Given the description of an element on the screen output the (x, y) to click on. 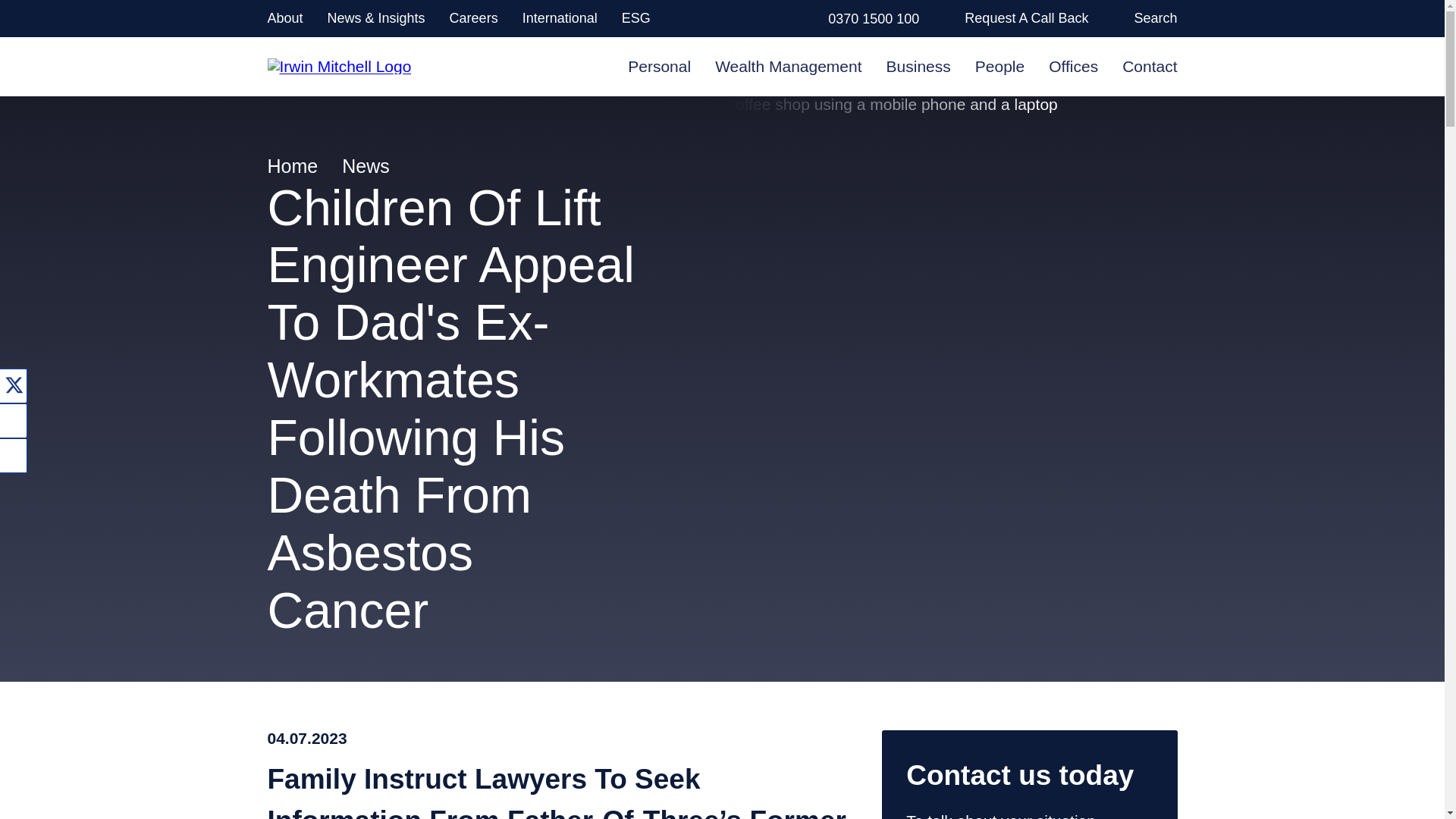
Request A Call Back (1025, 18)
Search (1155, 18)
0370 1500 100 (873, 18)
Personal (658, 66)
Careers (473, 18)
International (559, 18)
About (284, 18)
